Given the description of an element on the screen output the (x, y) to click on. 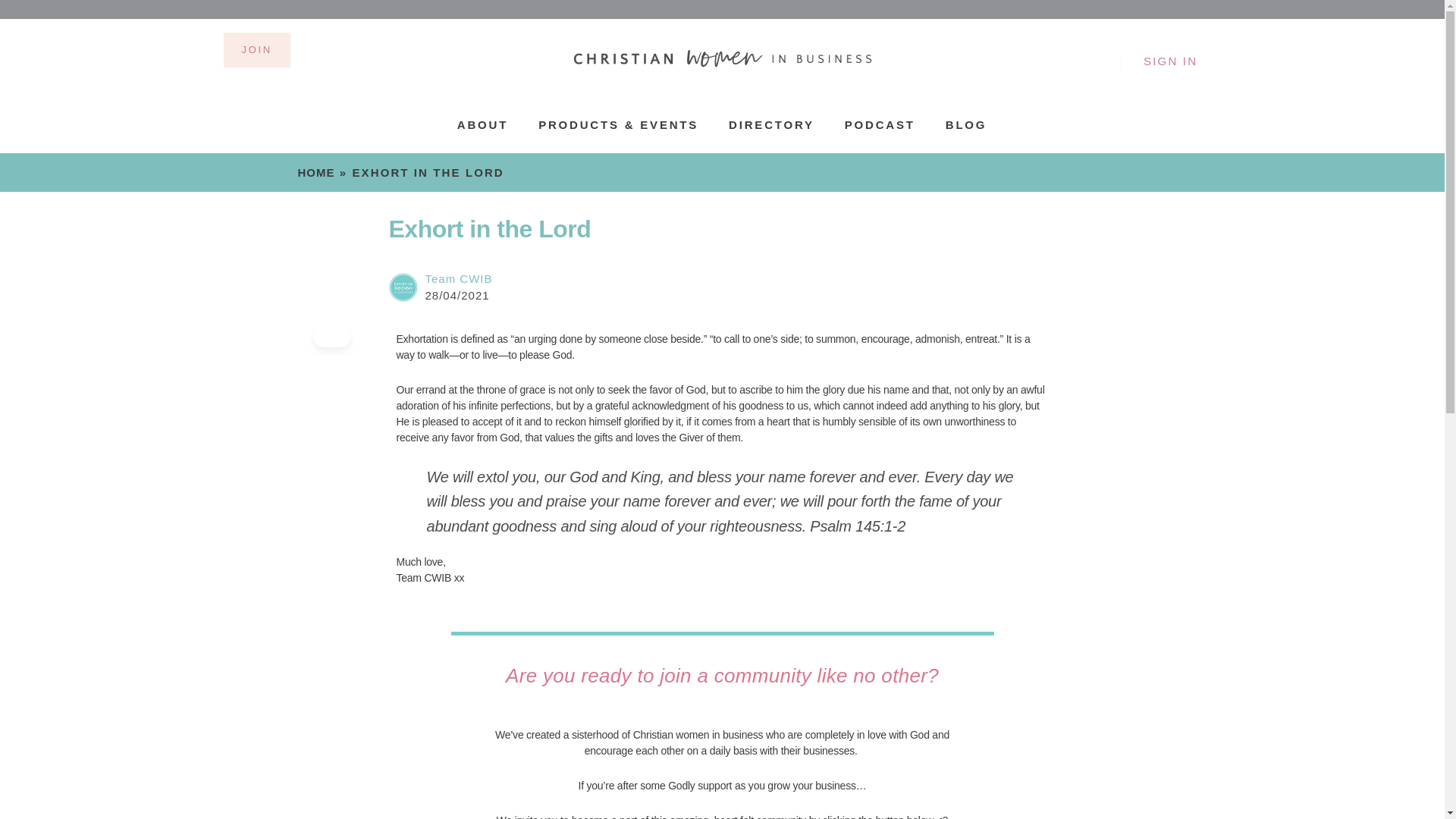
PODCAST (879, 124)
SIGN IN (1170, 61)
DIRECTORY (771, 124)
Team CWIB (458, 278)
JOIN (255, 49)
HOME (315, 172)
ABOUT (482, 124)
BLOG (966, 124)
